Given the description of an element on the screen output the (x, y) to click on. 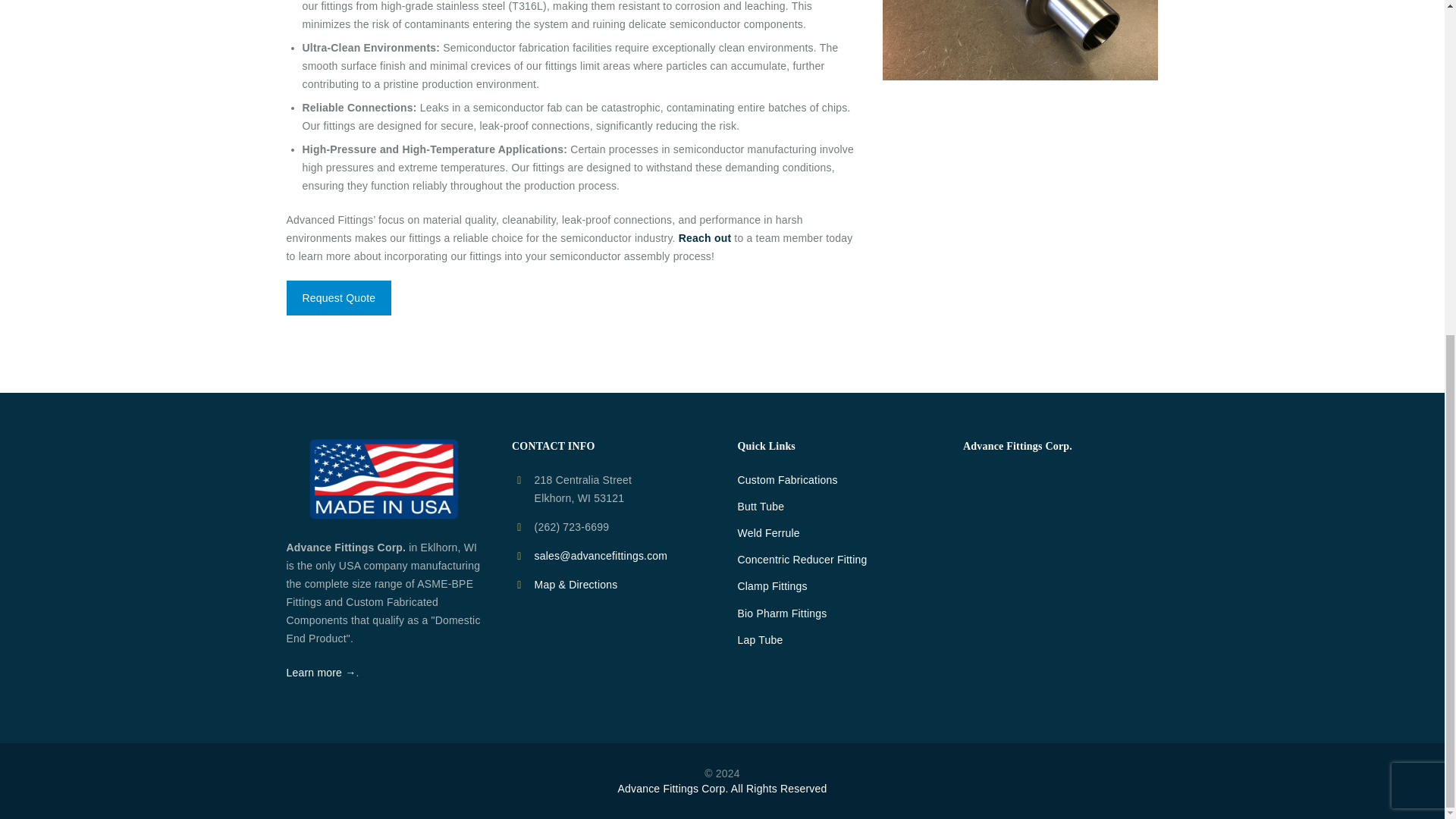
Manufactured in the USA with Pride! (383, 479)
